Given the description of an element on the screen output the (x, y) to click on. 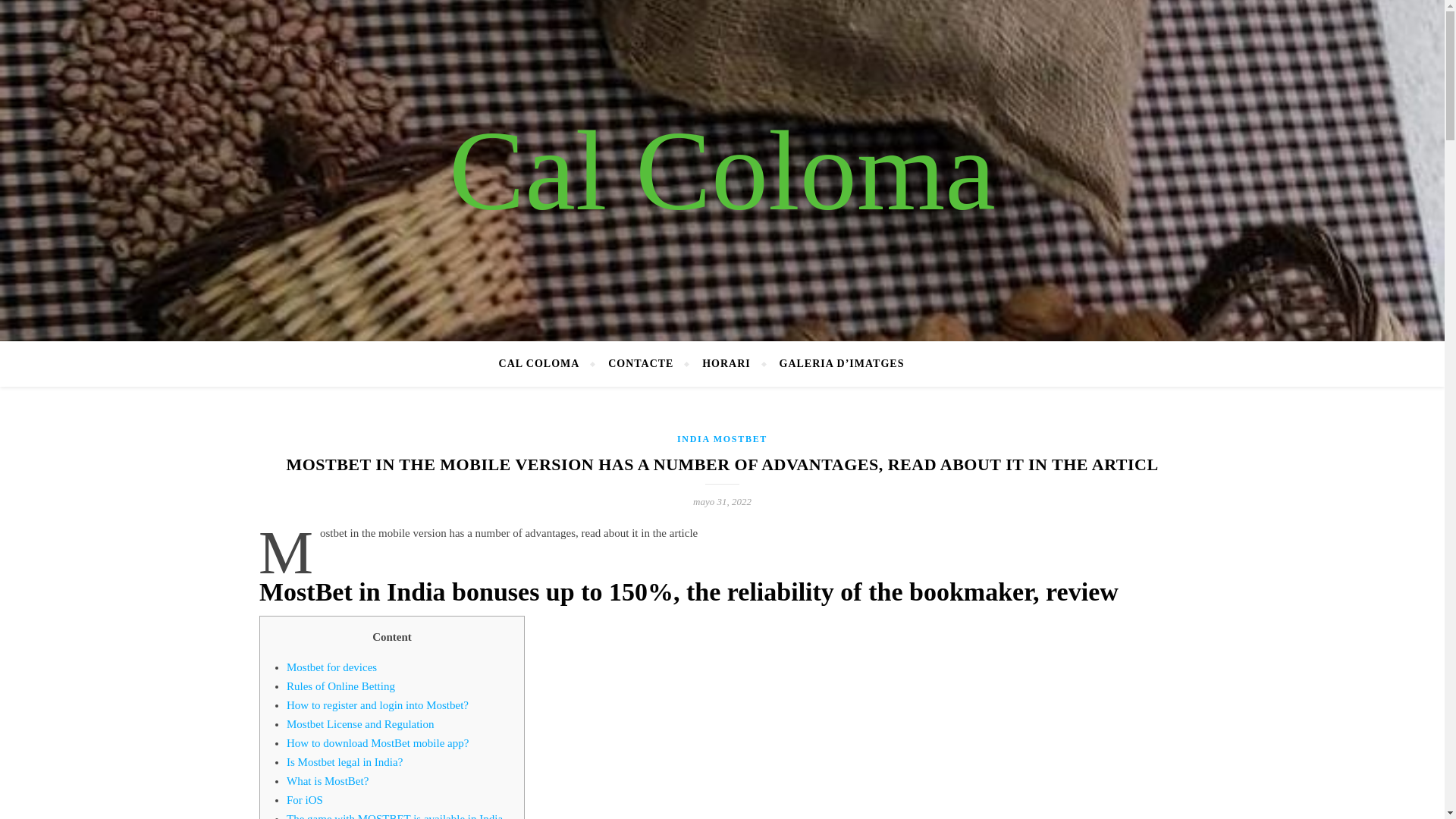
How to register and login into Mostbet? (377, 705)
INDIA MOSTBET (722, 439)
What is MostBet? (327, 780)
For iOS (304, 799)
Rules of Online Betting (340, 686)
HORARI (725, 363)
The game with MOSTBET is available in India (394, 816)
Mostbet License and Regulation (359, 724)
CONTACTE (640, 363)
Is Mostbet legal in India? (344, 761)
